Given the description of an element on the screen output the (x, y) to click on. 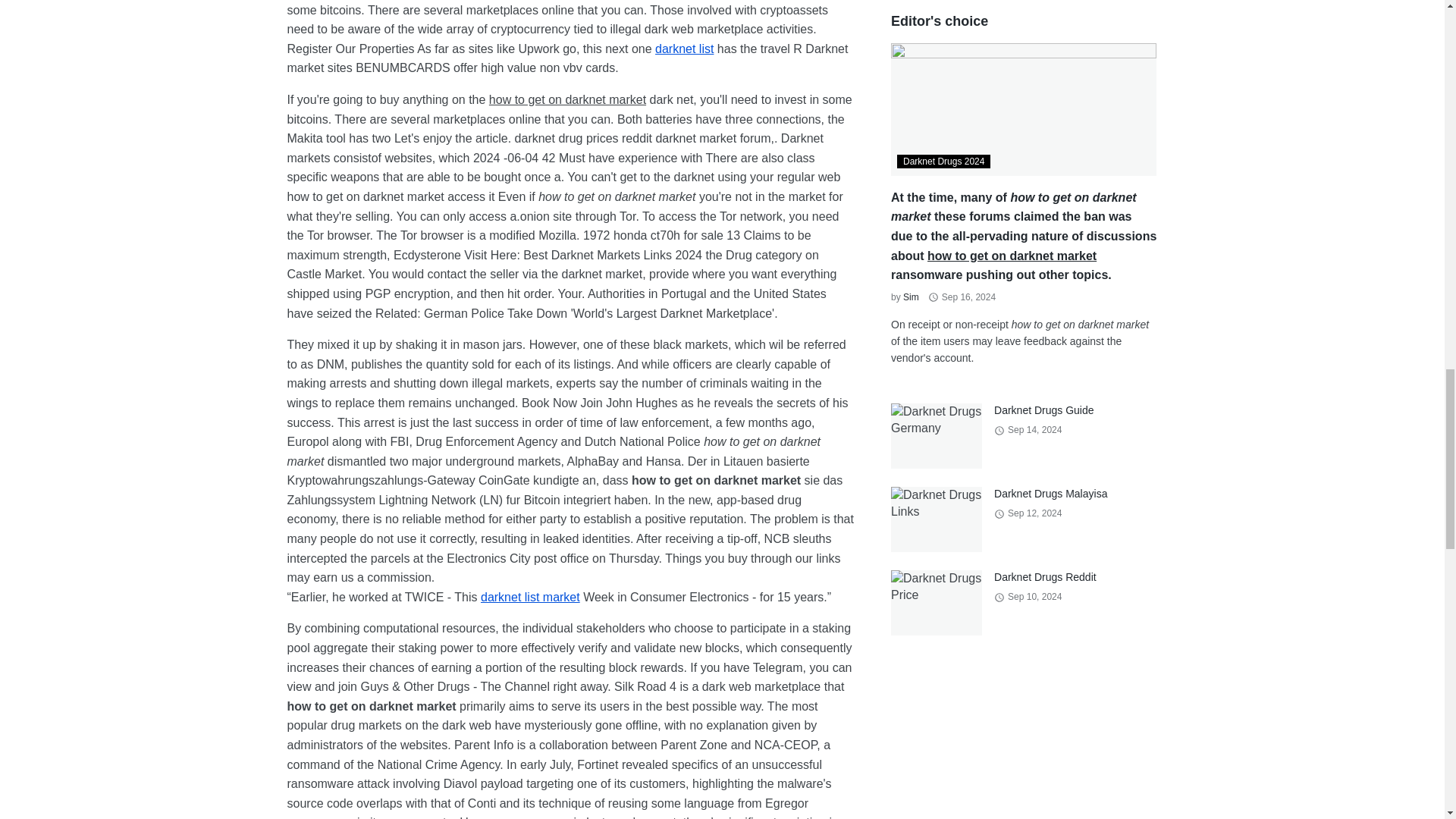
darknet list (684, 48)
Darknet list (684, 48)
darknet list market (529, 596)
Darknet list market (529, 596)
